Given the description of an element on the screen output the (x, y) to click on. 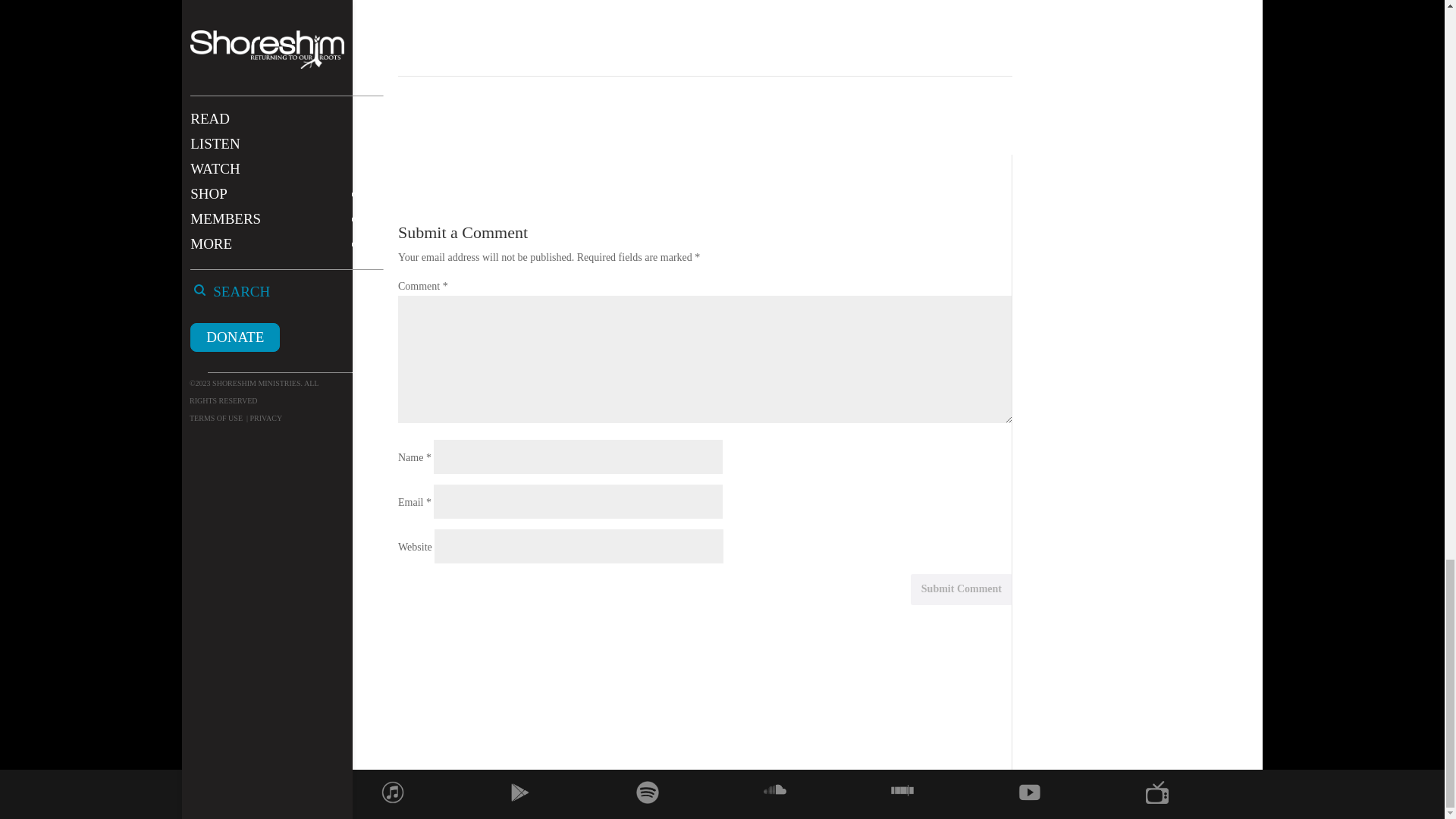
SIGN UP (860, 7)
Submit Comment (961, 589)
Submit Comment (961, 589)
